Given the description of an element on the screen output the (x, y) to click on. 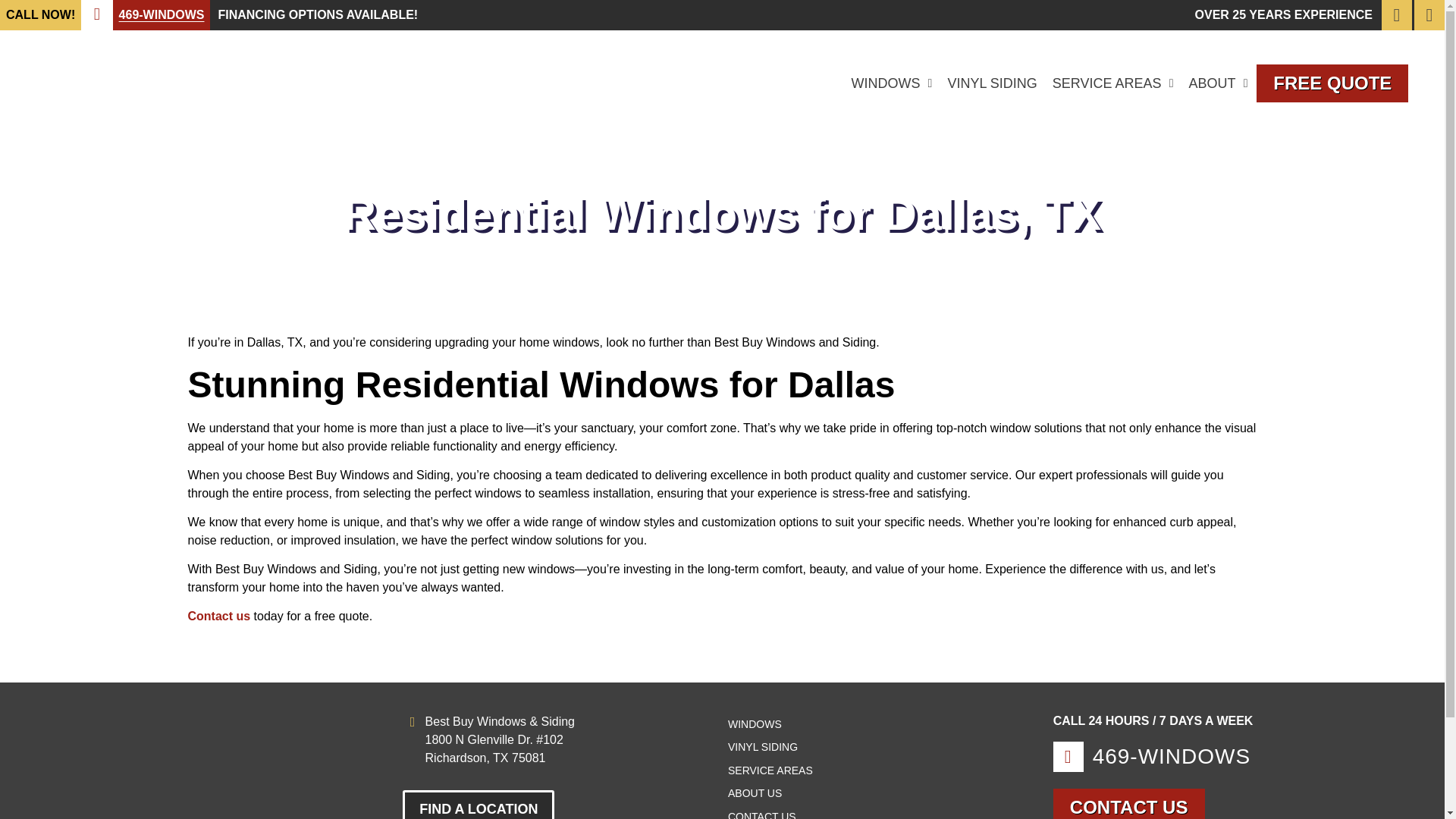
WINDOWS (890, 83)
footer logo (191, 774)
SERVICE AREAS (1112, 83)
469-WINDOWS (162, 14)
VINYL SIDING (991, 83)
FREE QUOTE (1331, 83)
ABOUT (1218, 83)
